Given the description of an element on the screen output the (x, y) to click on. 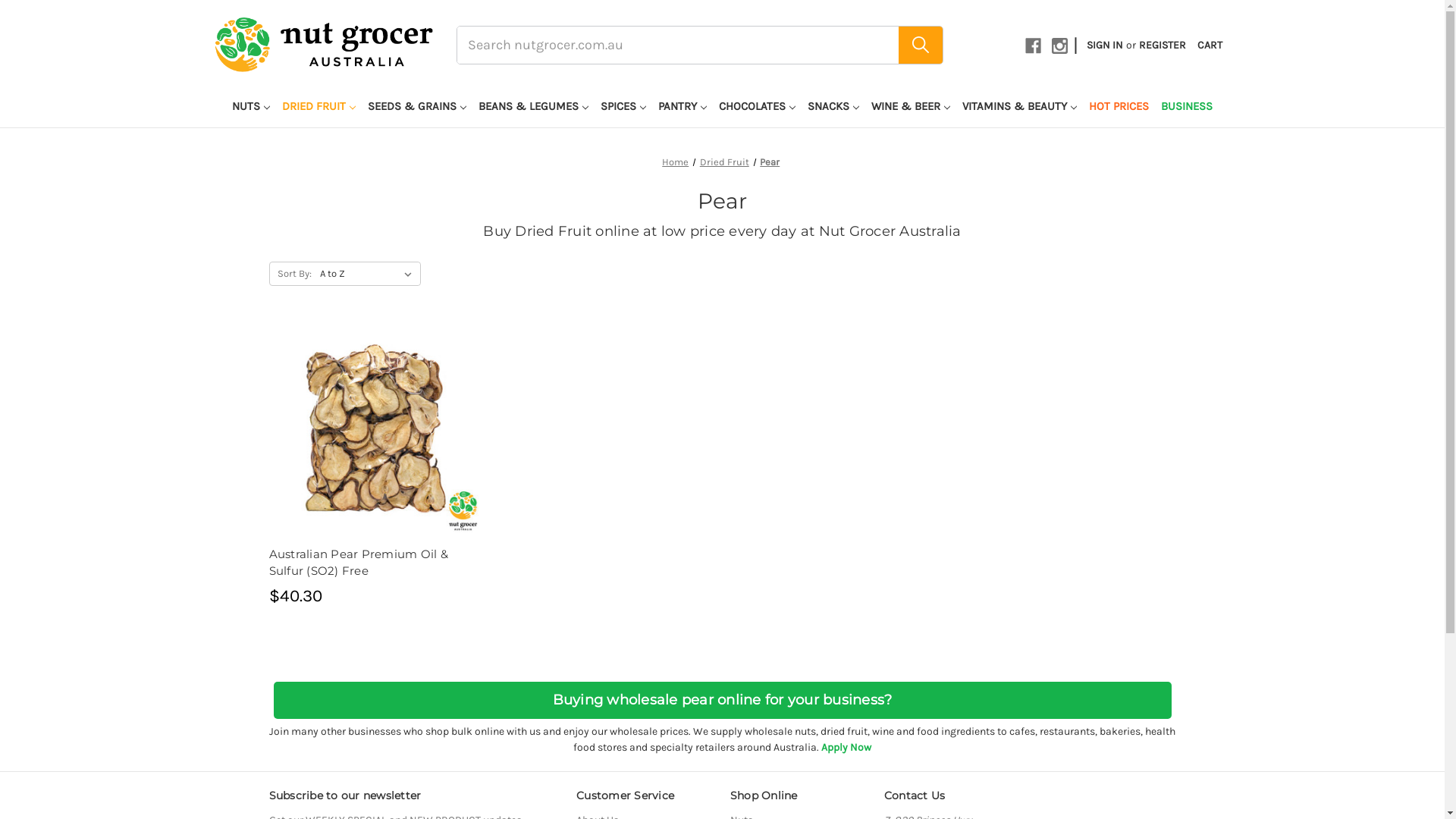
BUSINESS Element type: text (1186, 107)
Pear Element type: text (769, 161)
SEEDS & GRAINS Element type: text (416, 107)
SIGN IN Element type: text (1104, 44)
Home Element type: text (675, 161)
Australian Pear Premium Oil & Sulfur (SO2) Free Element type: text (375, 563)
Buying wholesale pear online for your business? Element type: text (721, 697)
Dried Fruit Element type: text (724, 161)
VITAMINS & BEAUTY Element type: text (1019, 107)
WINE & BEER Element type: text (910, 107)
Facebook Element type: text (1033, 45)
BEANS & LEGUMES Element type: text (533, 107)
Australian Pear Premium Oil & Sulfur (SO2) Free Element type: hover (375, 430)
SNACKS Element type: text (833, 107)
CHOCOLATES Element type: text (756, 107)
NUTS Element type: text (250, 107)
REGISTER Element type: text (1162, 44)
HOT PRICES Element type: text (1118, 107)
Nut Grocer Australia Element type: hover (322, 44)
CART Element type: text (1209, 44)
Apply Now Element type: text (846, 746)
PANTRY Element type: text (682, 107)
DRIED FRUIT Element type: text (318, 107)
Instagram Element type: text (1059, 45)
SPICES Element type: text (623, 107)
